Given the description of an element on the screen output the (x, y) to click on. 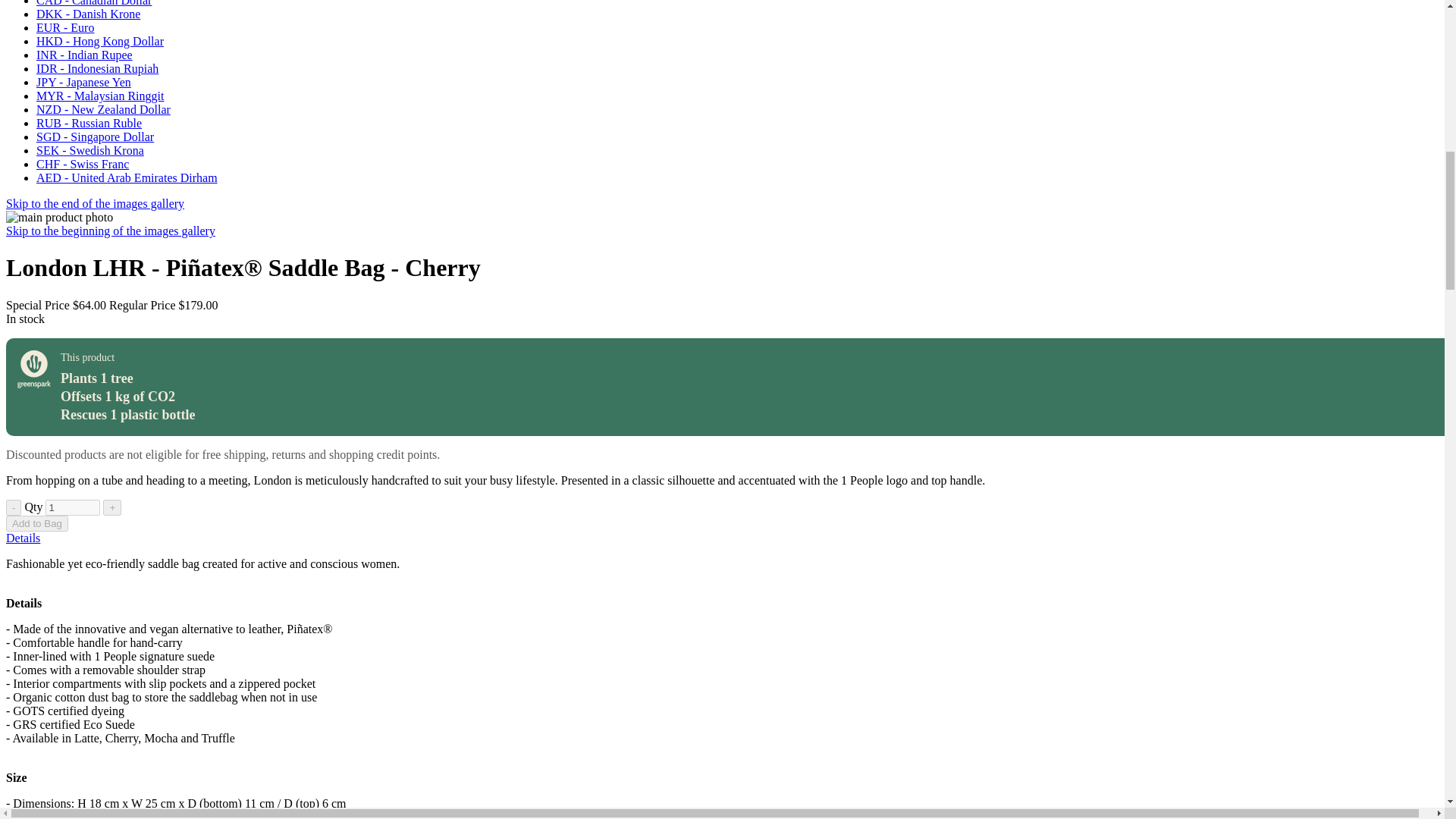
Add to Bag (36, 523)
1 (72, 507)
Qty (72, 507)
